Given the description of an element on the screen output the (x, y) to click on. 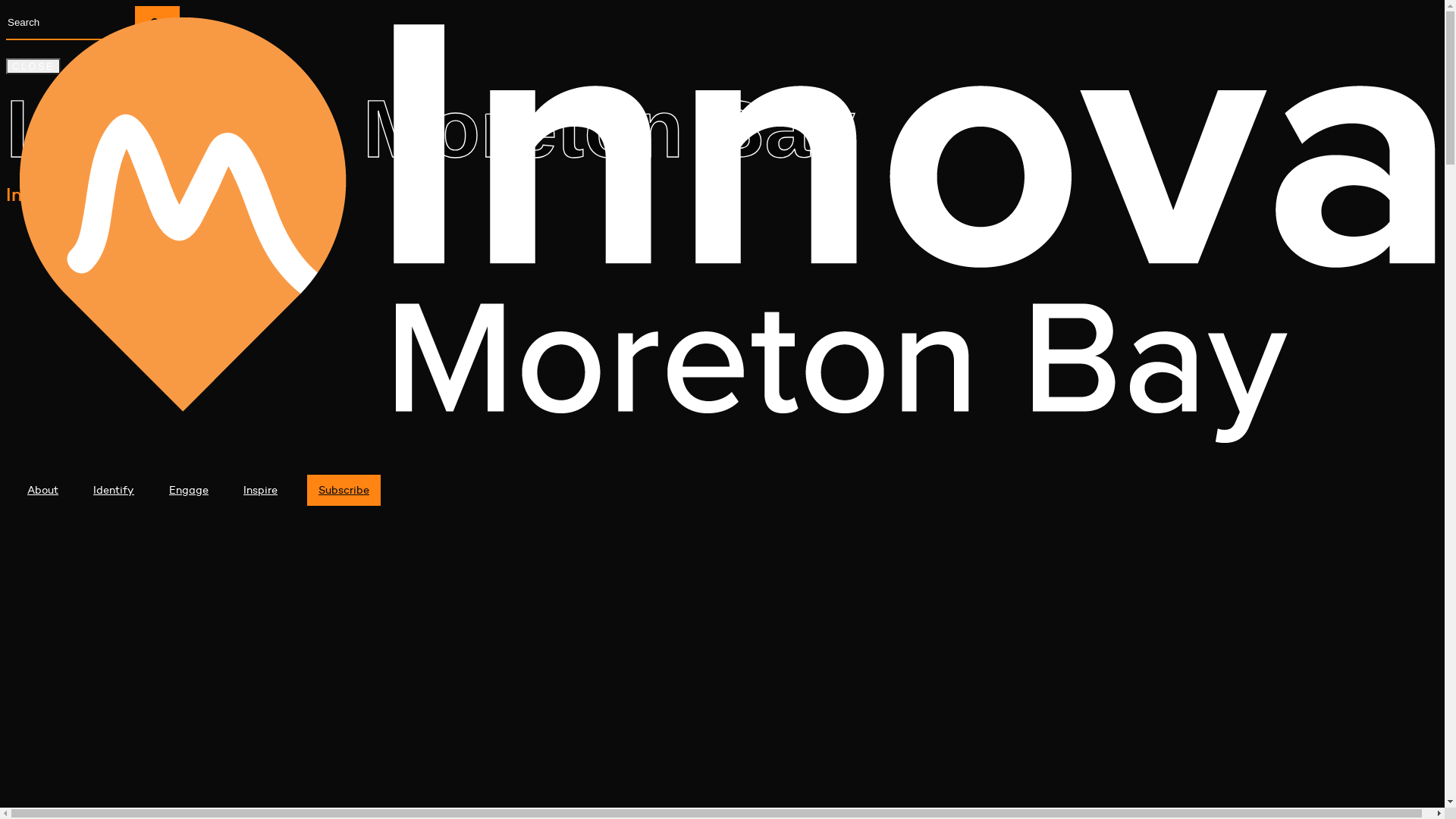
Go Element type: text (156, 21)
Inspire Element type: text (260, 489)
Engage Element type: text (188, 489)
About Element type: text (42, 489)
Subscribe Element type: text (343, 489)
CLOSE Element type: text (33, 66)
Identify Element type: text (113, 489)
